Given the description of an element on the screen output the (x, y) to click on. 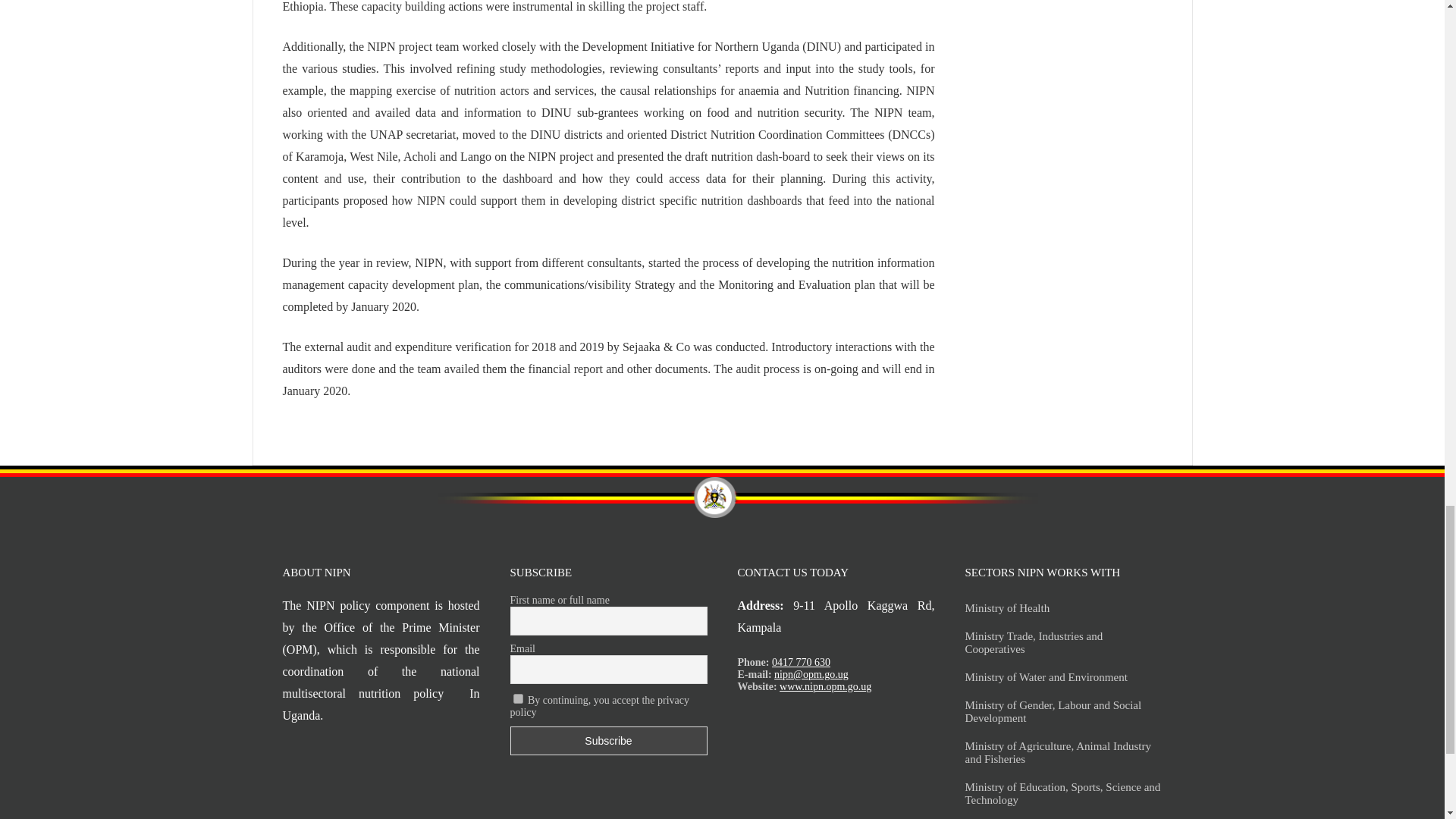
0417 770 630 (800, 662)
Subscribe (607, 740)
www.nipn.opm.go.ug (824, 686)
on (517, 698)
Subscribe (607, 740)
